Given the description of an element on the screen output the (x, y) to click on. 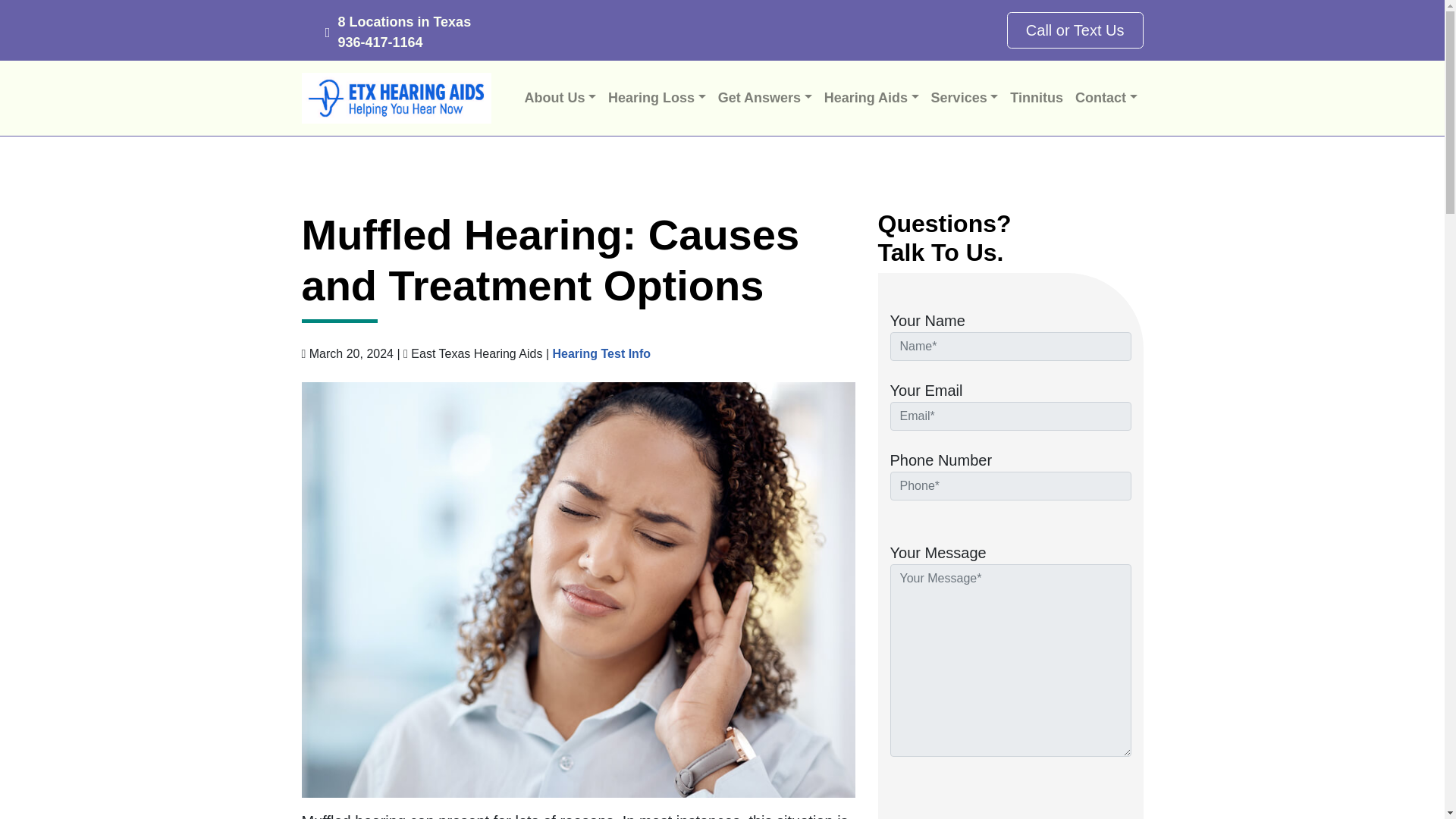
About Us (560, 97)
Hearing Aids (871, 97)
Get Answers (764, 97)
Contact (1105, 97)
936-417-1164 (379, 42)
8 Locations in Texas (403, 21)
Hearing Loss (656, 97)
Tinnitus (1036, 97)
Call or Text Us (1074, 30)
Services (964, 97)
